Given the description of an element on the screen output the (x, y) to click on. 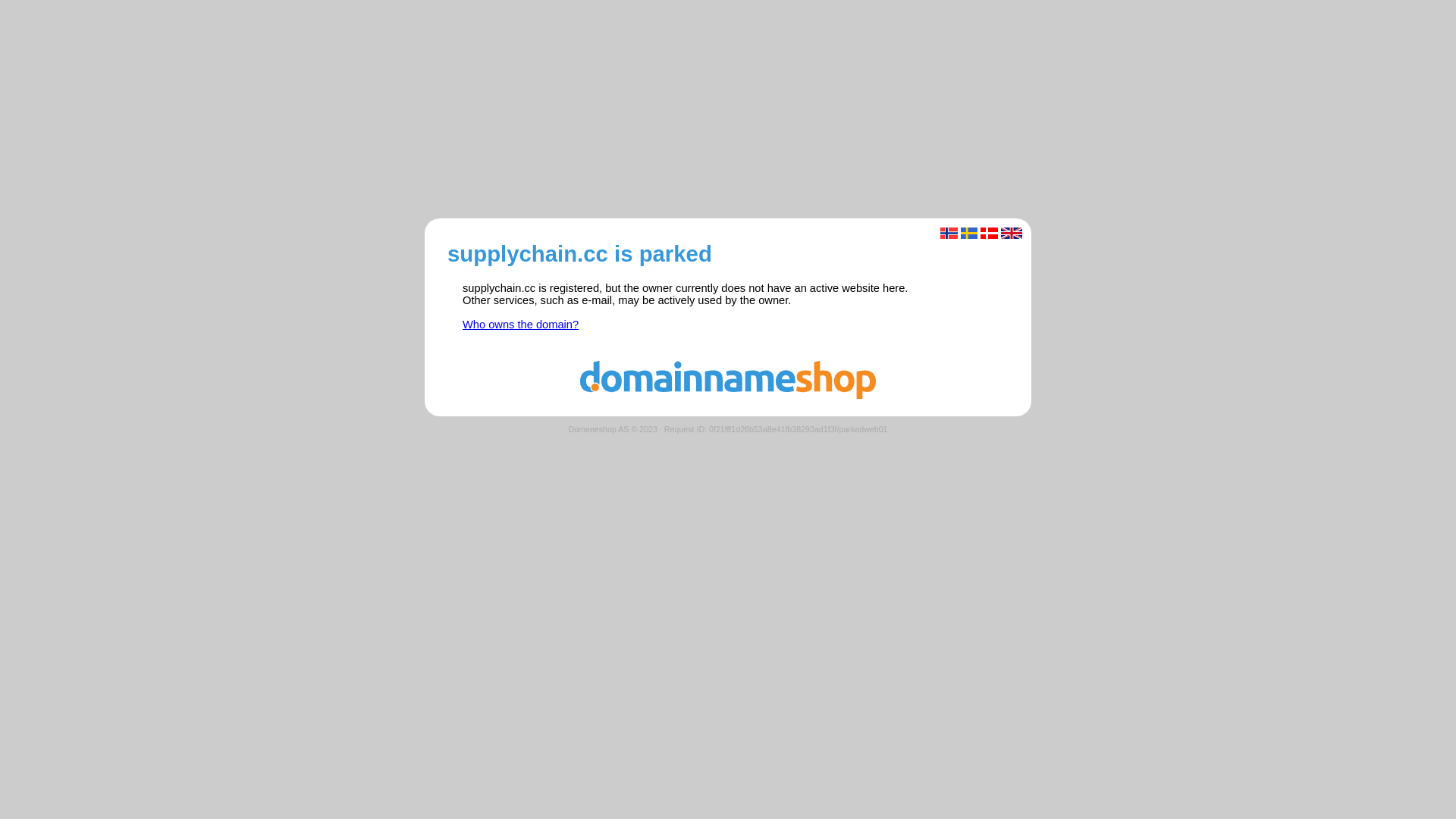
English Element type: hover (1011, 232)
Norsk Element type: hover (948, 232)
Svenska Element type: hover (968, 232)
Who owns the domain? Element type: text (520, 324)
Dansk Element type: hover (988, 232)
